Given the description of an element on the screen output the (x, y) to click on. 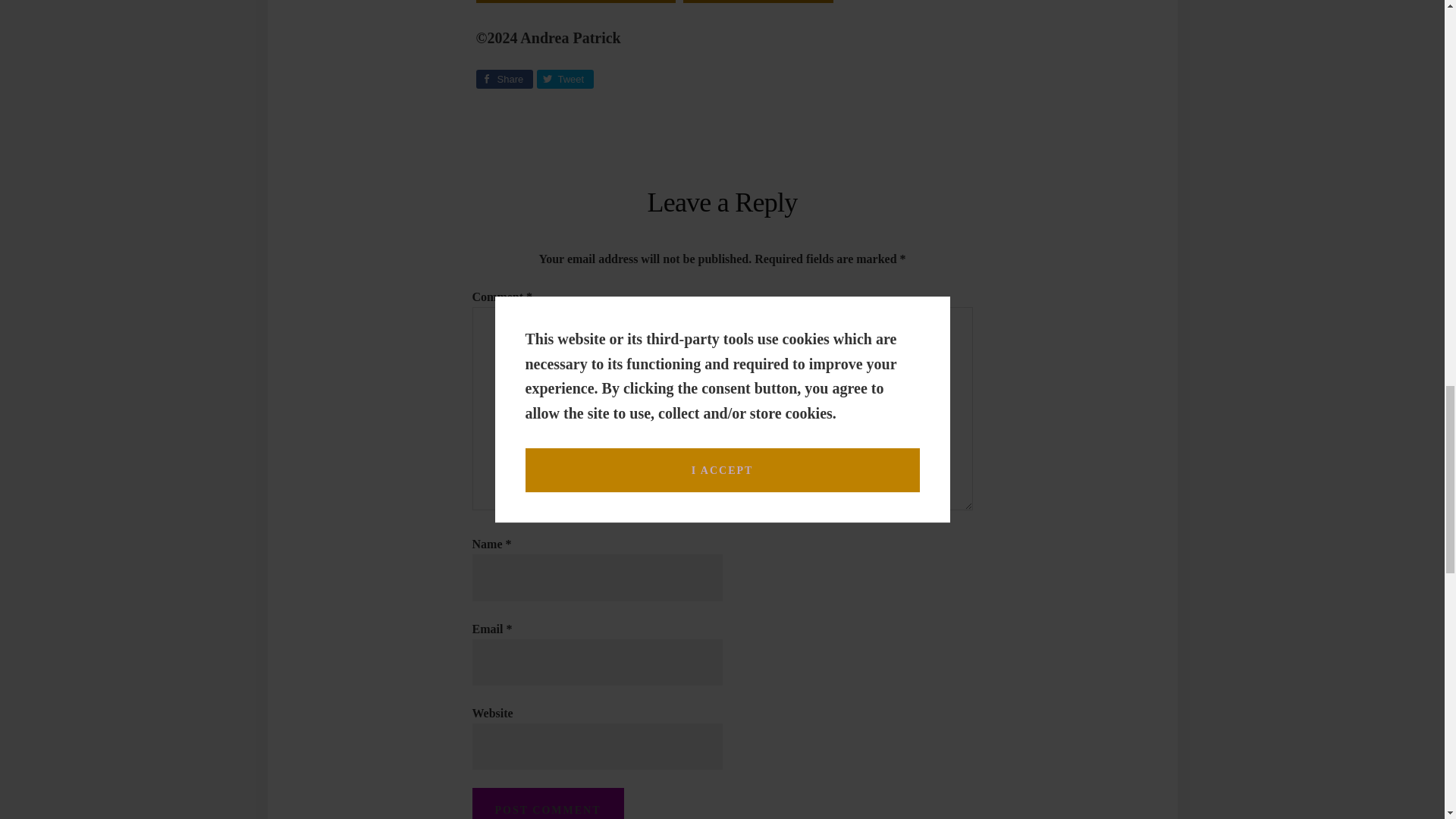
DOWNLOAD AUDIO (575, 1)
Tweet (565, 78)
SUBSCRIBE (757, 1)
Post Comment (547, 803)
Post Comment (547, 803)
Share (504, 78)
